Given the description of an element on the screen output the (x, y) to click on. 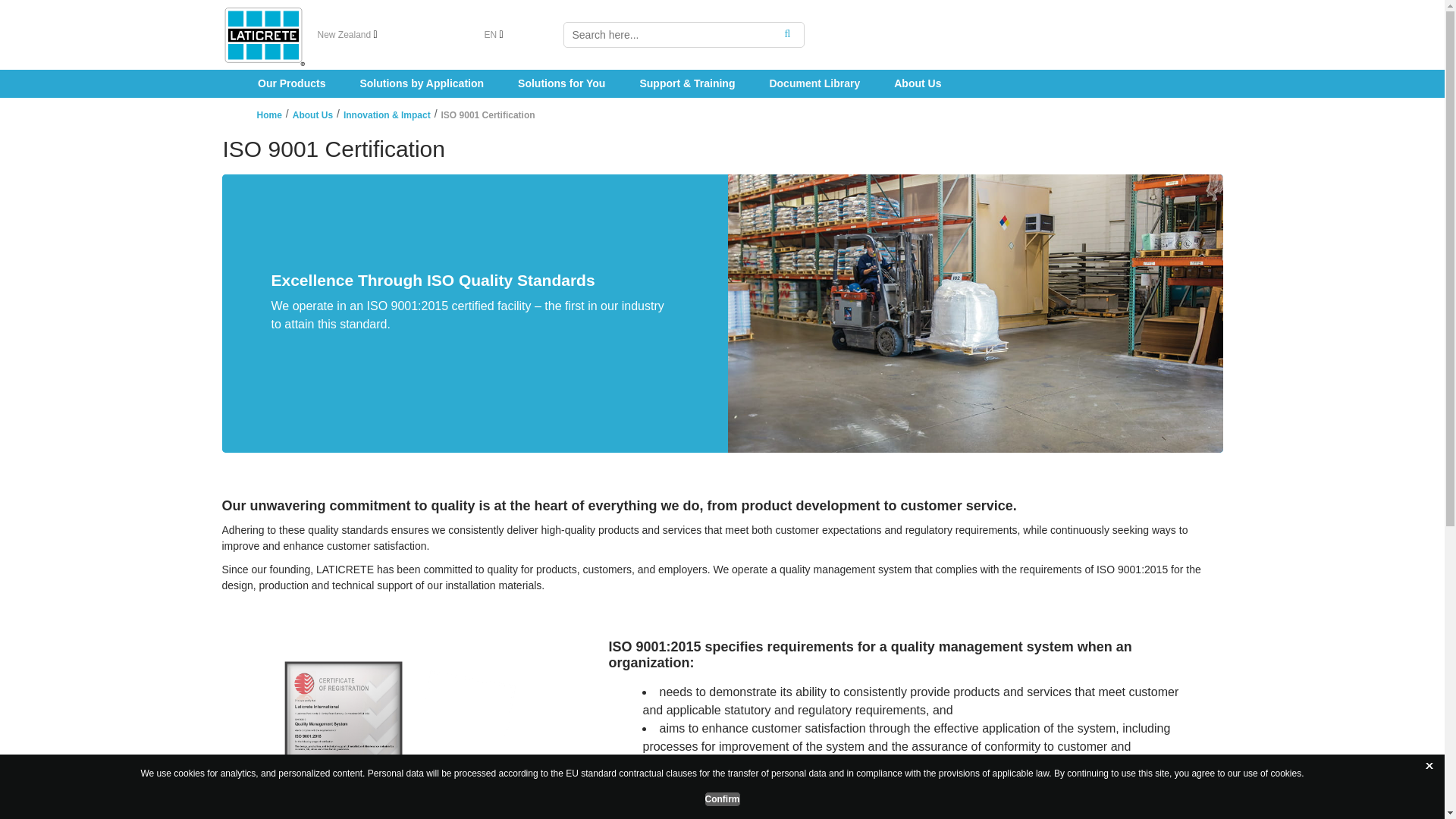
Laticrete Logo (262, 35)
About Us (312, 114)
ISO 9001 Certification (722, 148)
Home (268, 114)
ISO 9001 Certification (488, 114)
